Given the description of an element on the screen output the (x, y) to click on. 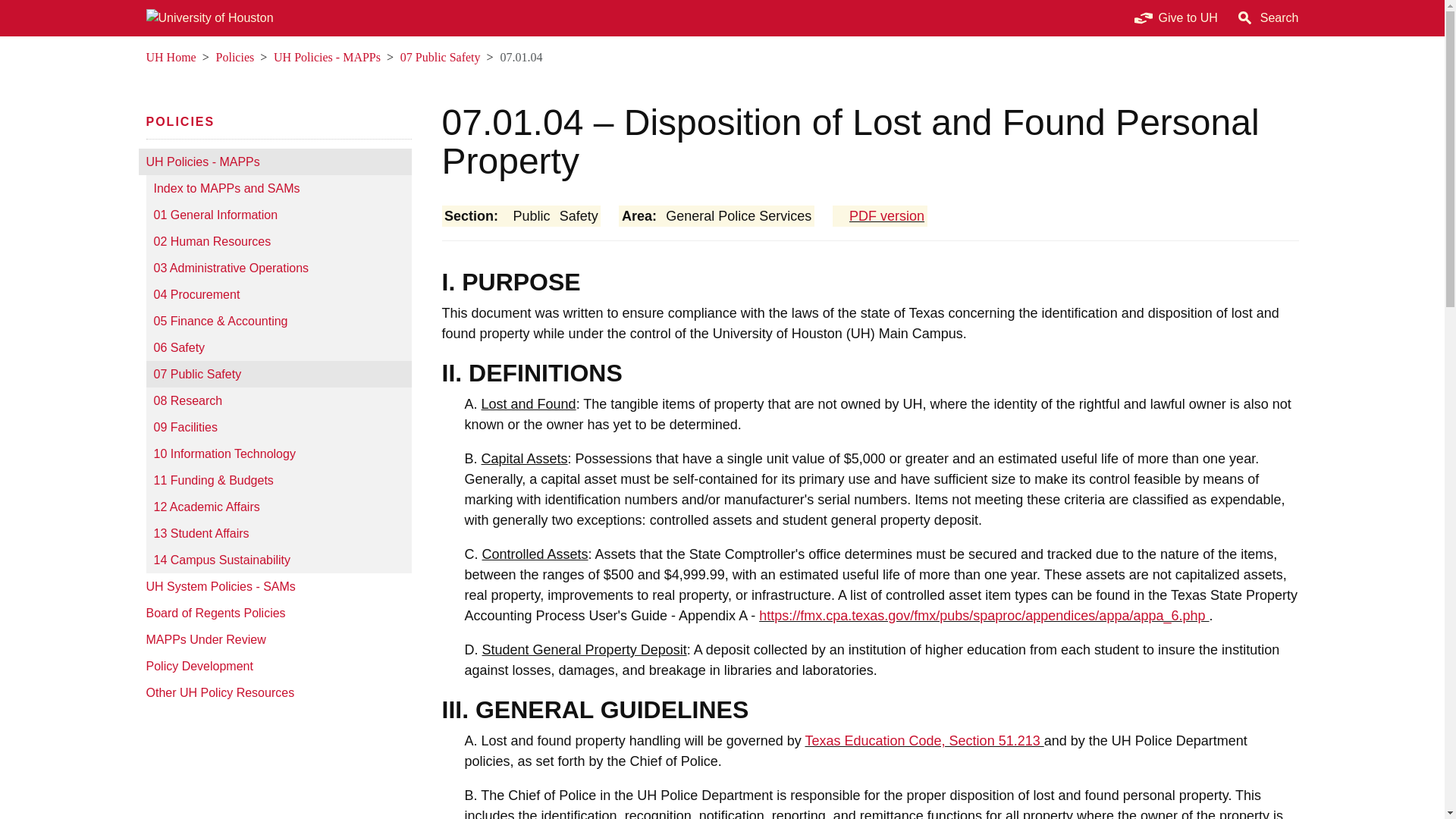
01 General Information (277, 214)
UH Policies - MAPPs (326, 56)
PDF version (879, 215)
Index to MAPPs and SAMs (277, 188)
University of Houston (154, 161)
University of Houston (282, 56)
03 Administrative Operations (277, 267)
07 Public Safety (277, 374)
Policies (179, 121)
04 Procurement (277, 294)
